Given the description of an element on the screen output the (x, y) to click on. 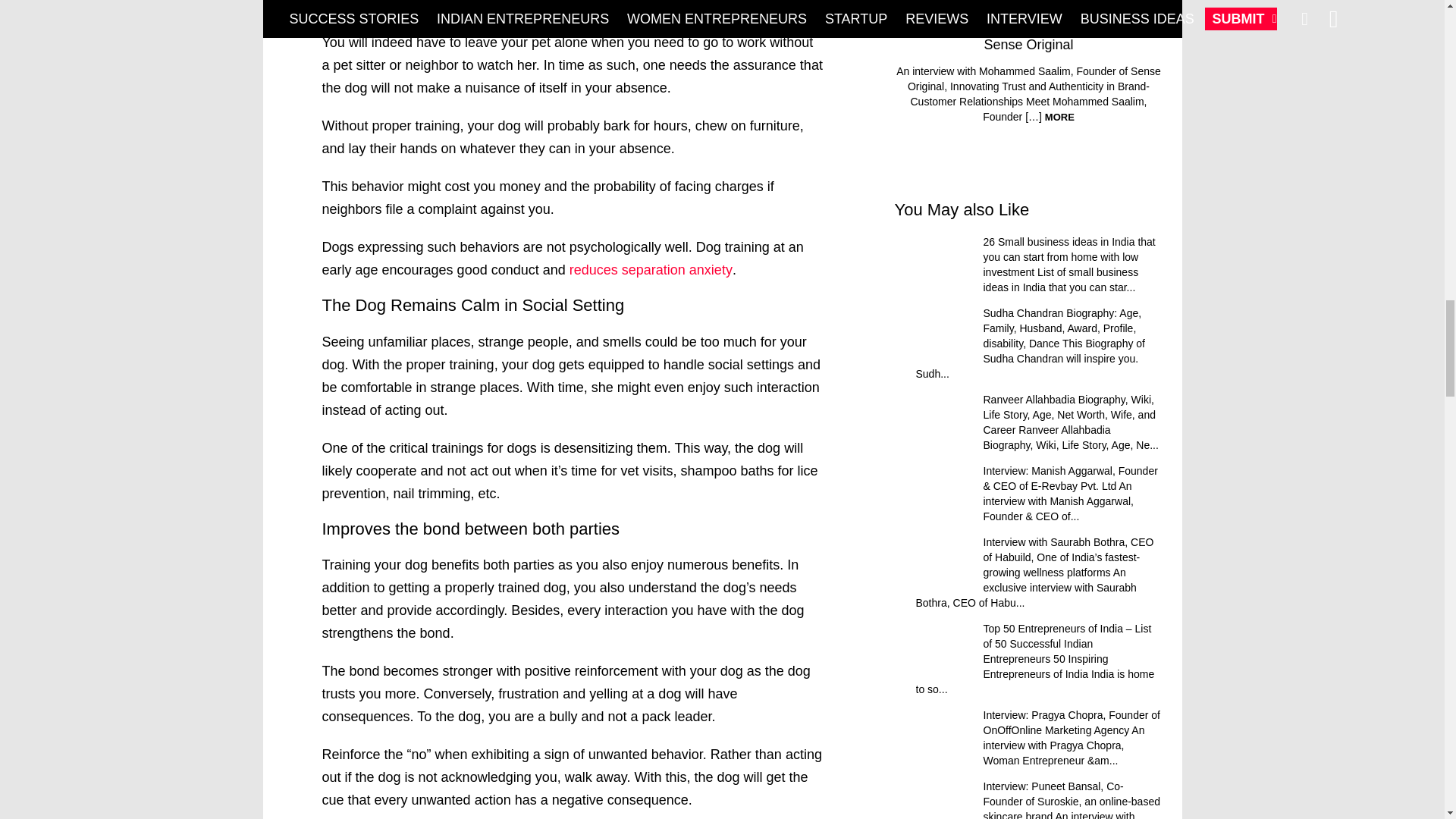
reduces separation anxiety (650, 269)
